Given the description of an element on the screen output the (x, y) to click on. 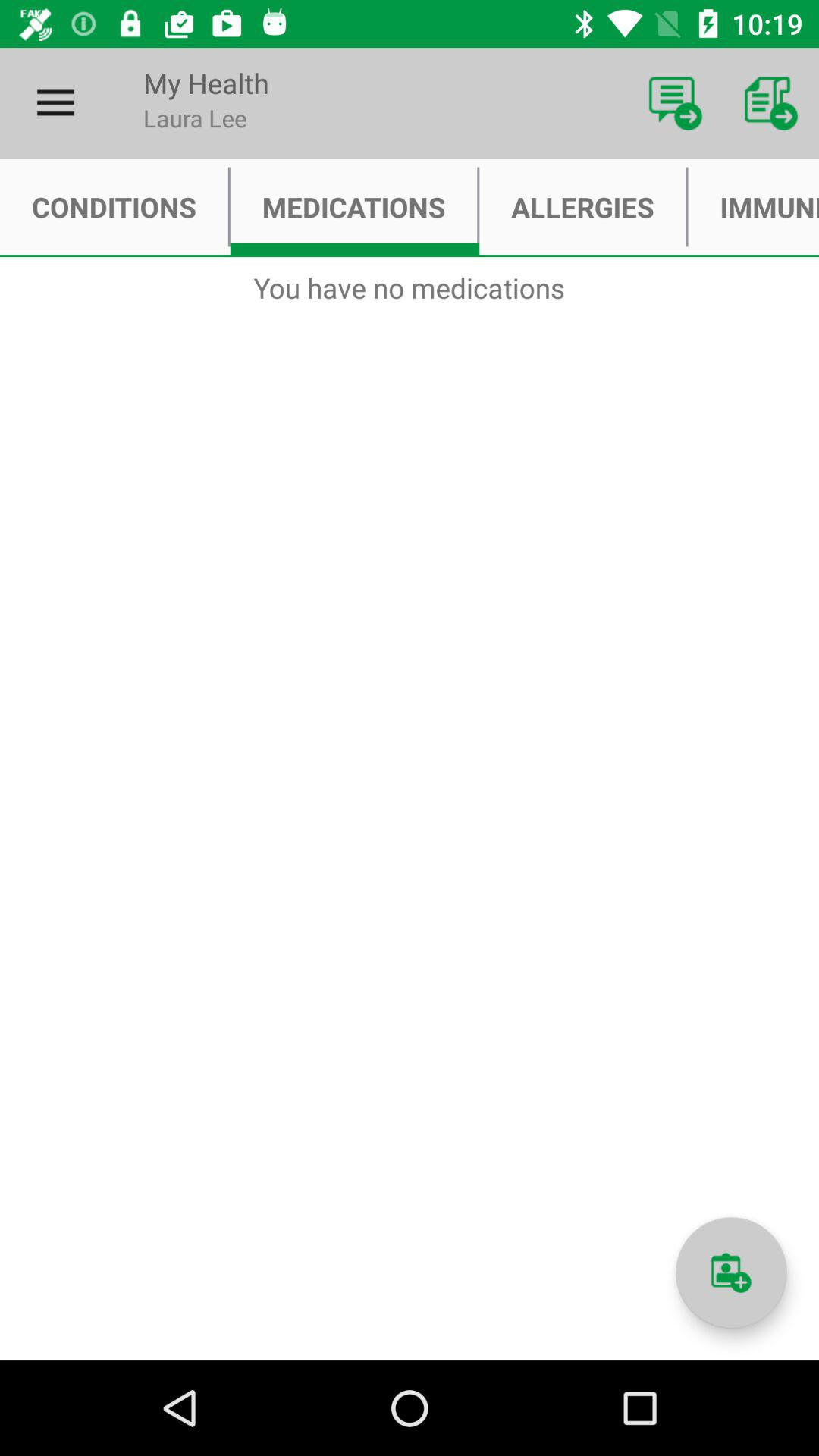
add information (731, 1272)
